Given the description of an element on the screen output the (x, y) to click on. 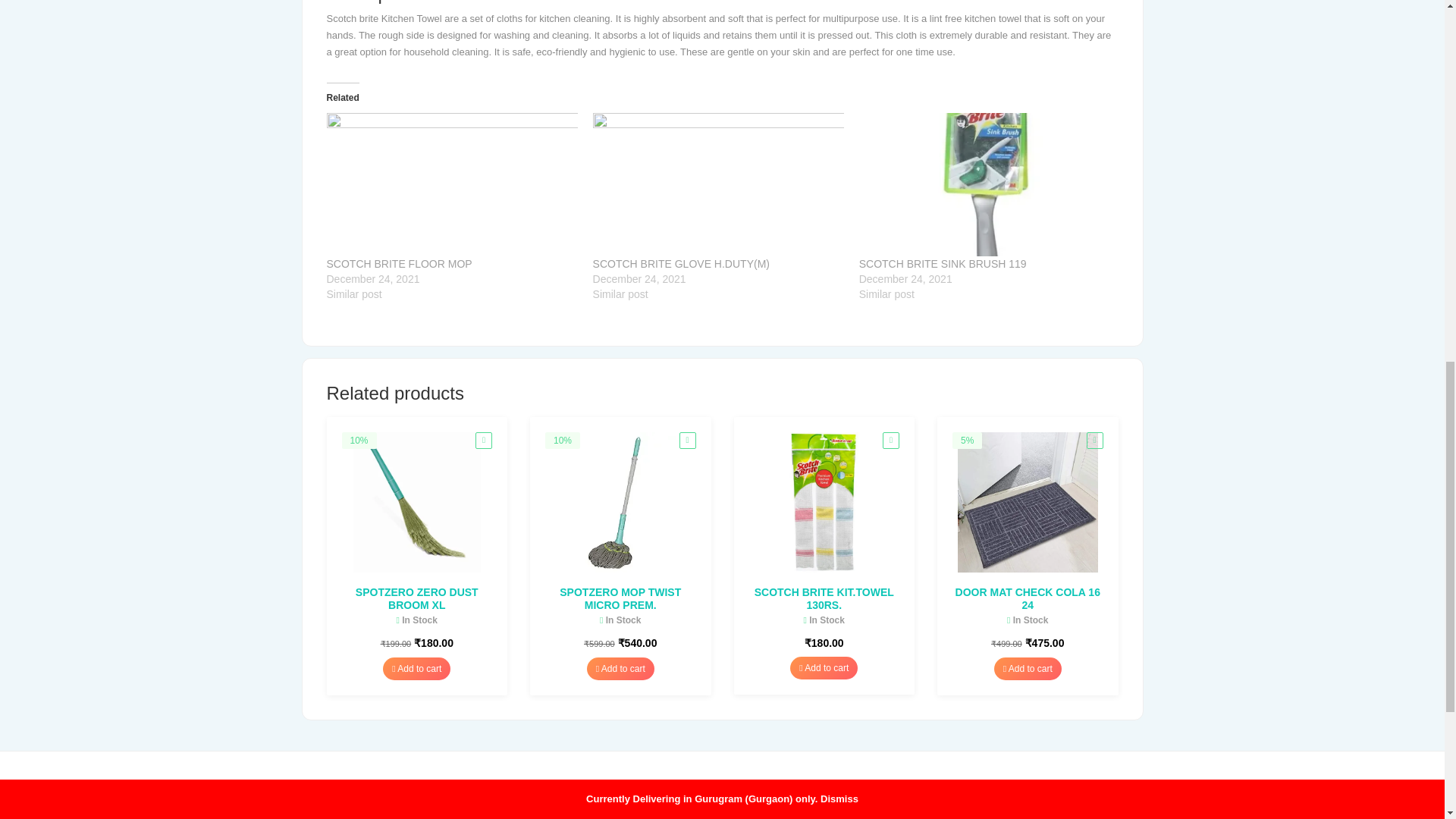
SCOTCH BRITE FLOOR MOP (451, 184)
SCOTCH BRITE FLOOR MOP (398, 263)
SCOTCH BRITE SINK BRUSH 119 (942, 263)
SCOTCH BRITE SINK BRUSH 119 (984, 184)
